Given the description of an element on the screen output the (x, y) to click on. 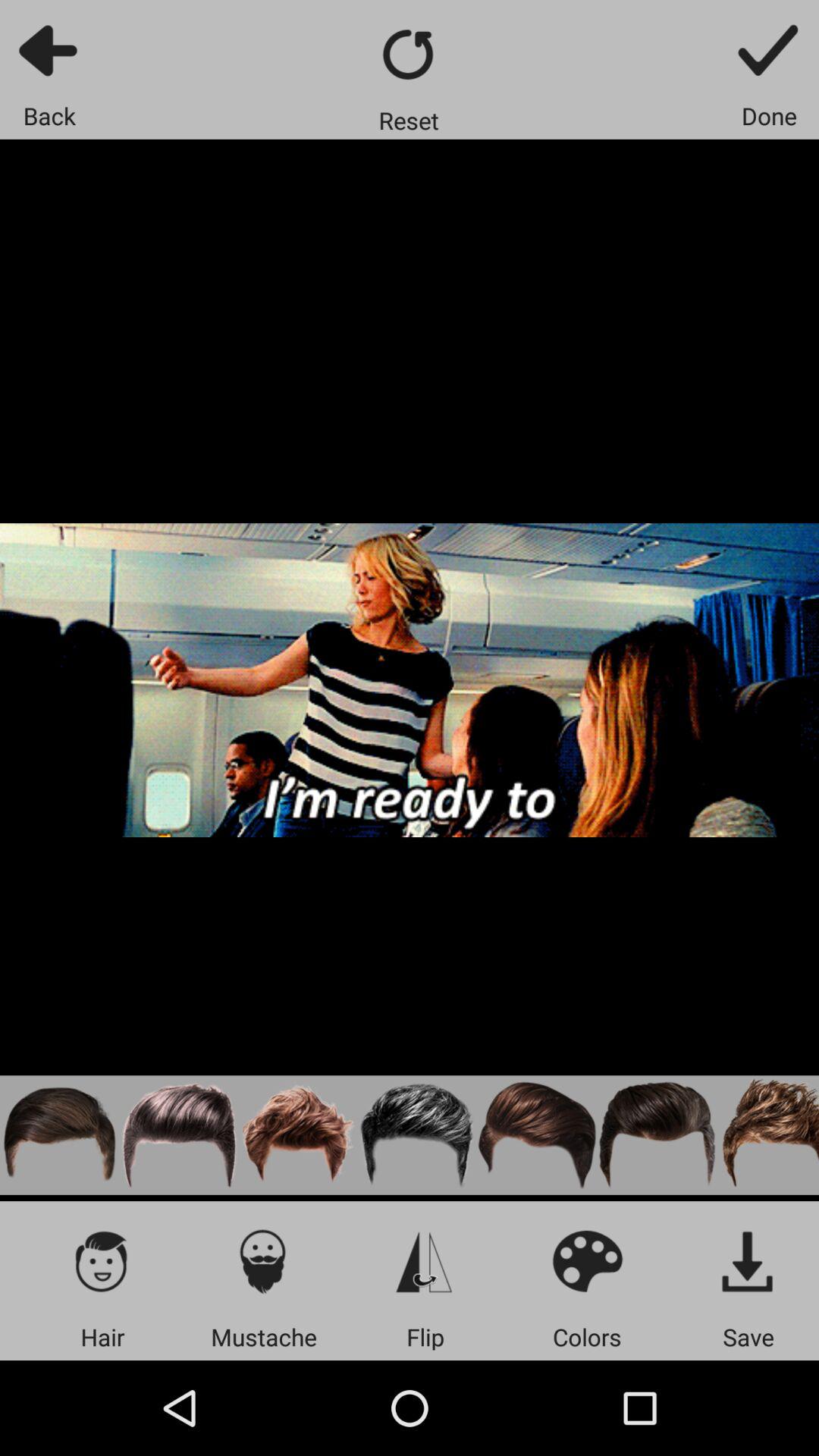
vike (178, 1134)
